Given the description of an element on the screen output the (x, y) to click on. 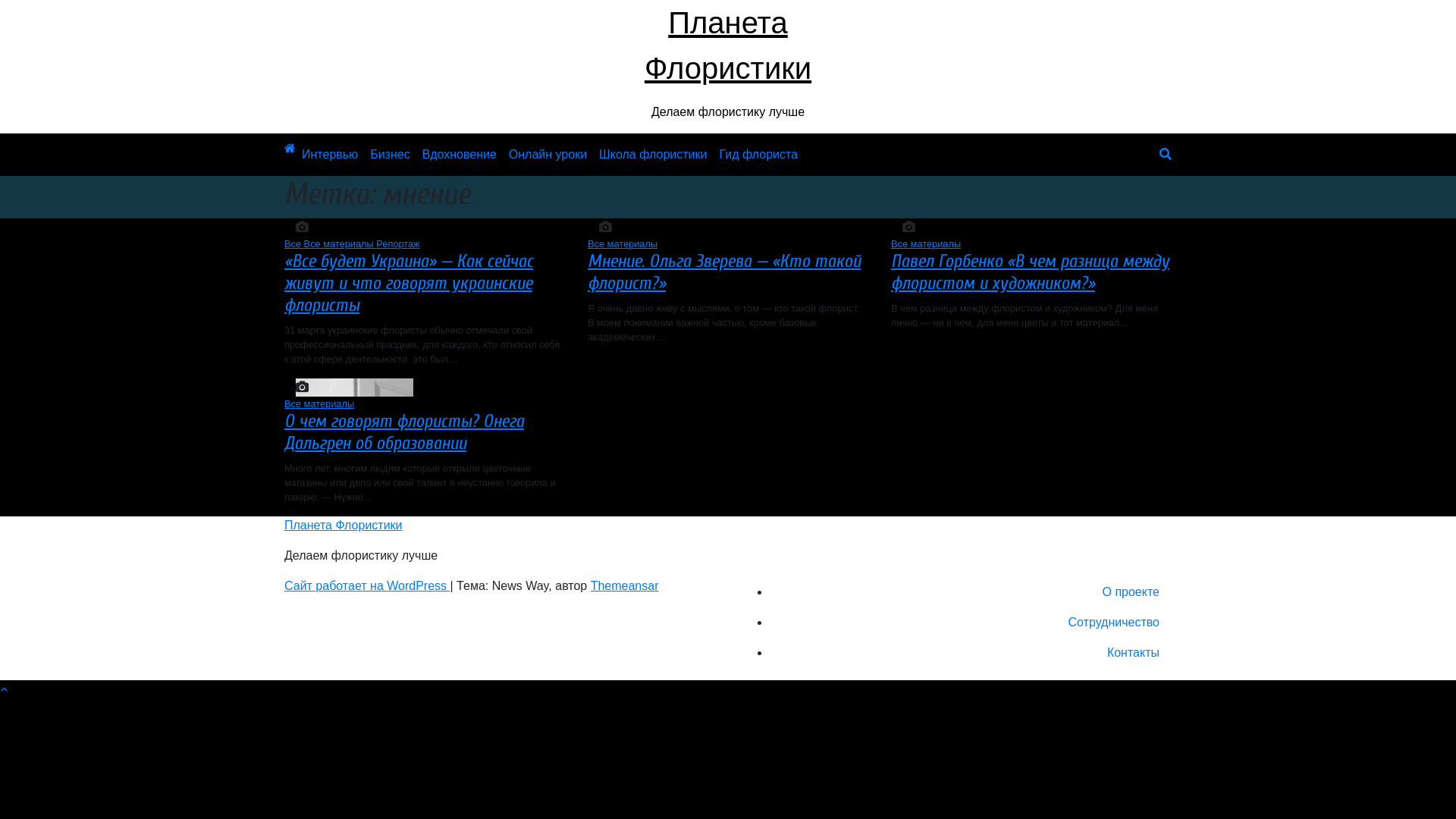
Themeansar Element type: text (624, 585)
